Given the description of an element on the screen output the (x, y) to click on. 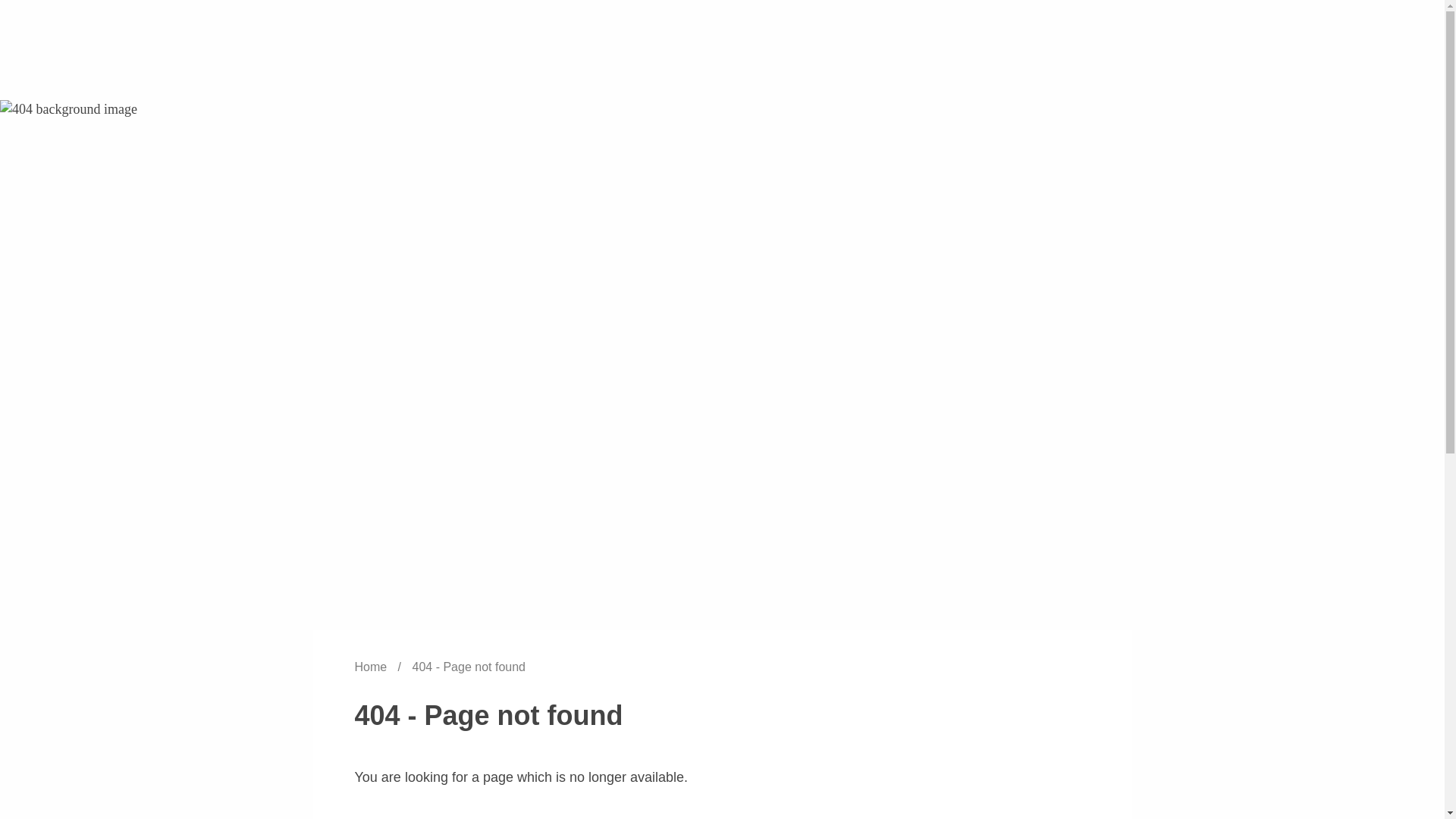
Home (371, 666)
